Given the description of an element on the screen output the (x, y) to click on. 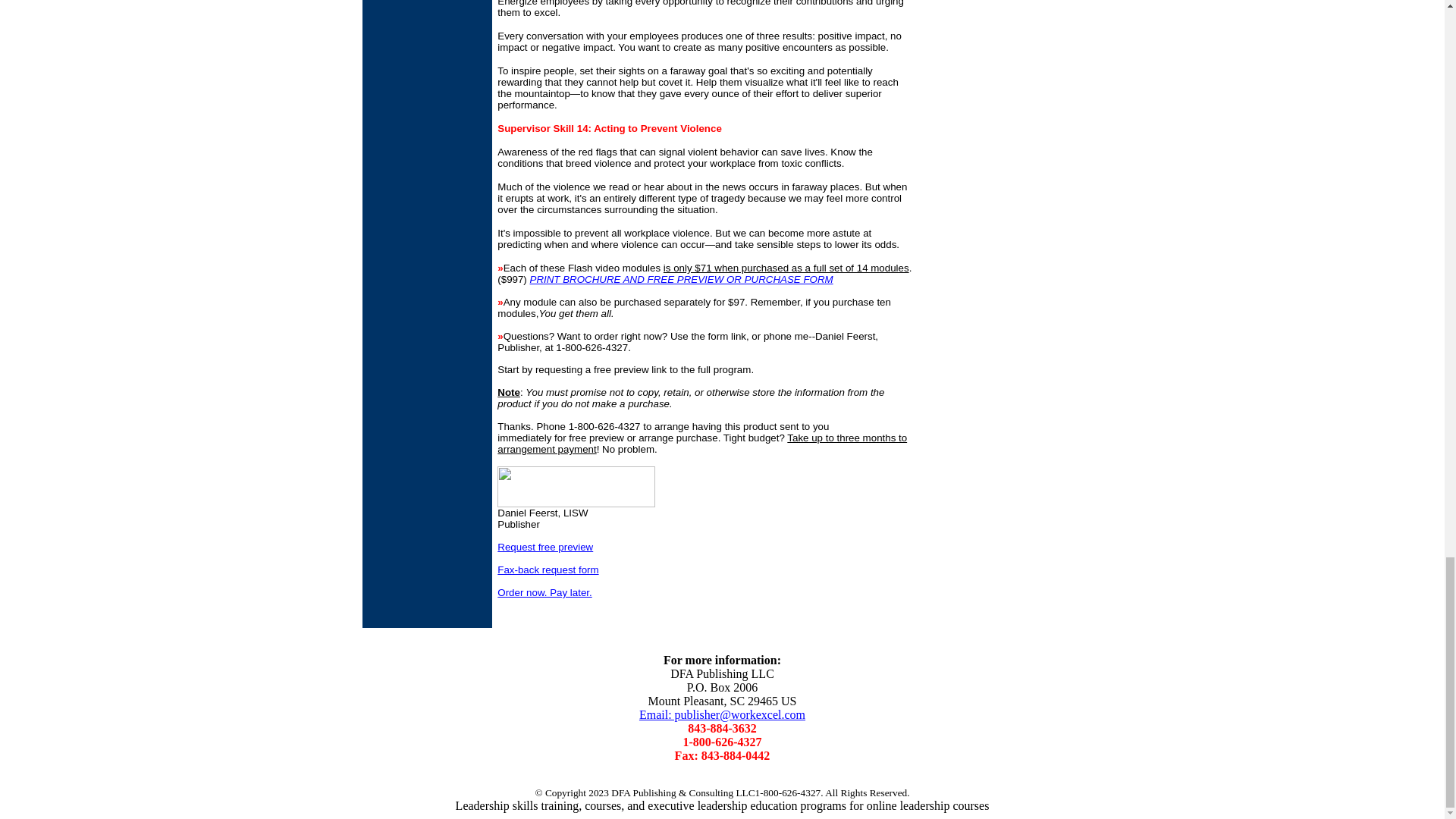
Fax-back request form (547, 569)
PRINT BROCHURE AND FREE PREVIEW OR PURCHASE FORM (680, 279)
Request free preview (544, 546)
Order now. Pay later. (544, 592)
